Given the description of an element on the screen output the (x, y) to click on. 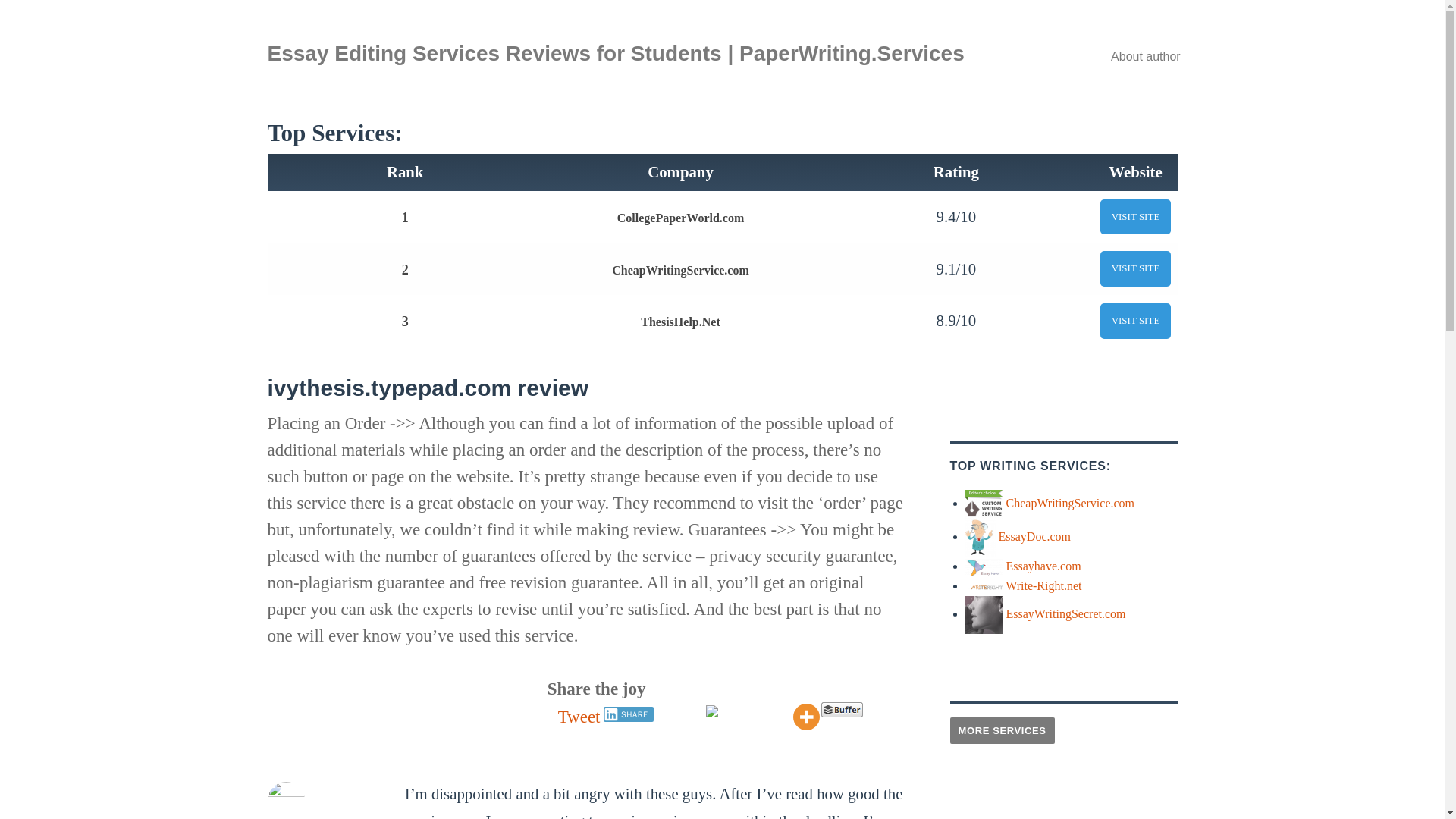
EssayWritingSecret.com (1065, 613)
Visit site (1136, 217)
More Services (1001, 730)
Visit site (1136, 321)
VISIT SITE (1136, 321)
SHARE (628, 713)
ThesisHelp.Net (679, 321)
Visit site (1136, 268)
SHARE (628, 714)
VISIT SITE (1136, 268)
Write-Right.net (1043, 585)
EssayDoc.com (1033, 535)
CollegePaperWorld.com (680, 217)
CheapWritingService.com (1070, 502)
Tweet (578, 716)
